Given the description of an element on the screen output the (x, y) to click on. 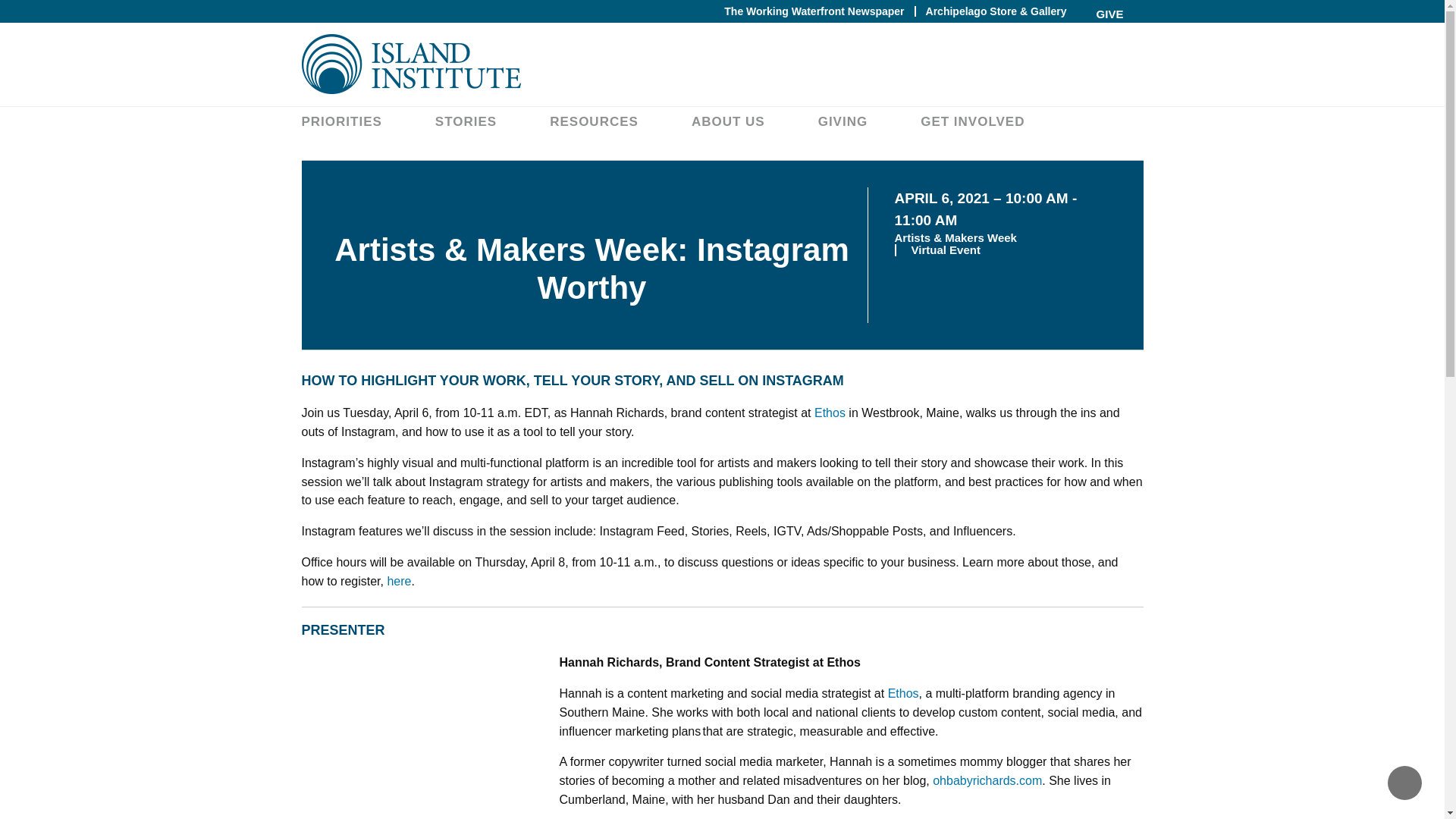
GIVE TODAY! (1109, 26)
Island Institute (721, 64)
The Working Waterfront Newspaper (813, 10)
The Working Waterfront Newspaper (813, 10)
Priorities (341, 121)
STORIES (465, 121)
PRIORITIES (341, 121)
Give Today! (1109, 26)
